Given the description of an element on the screen output the (x, y) to click on. 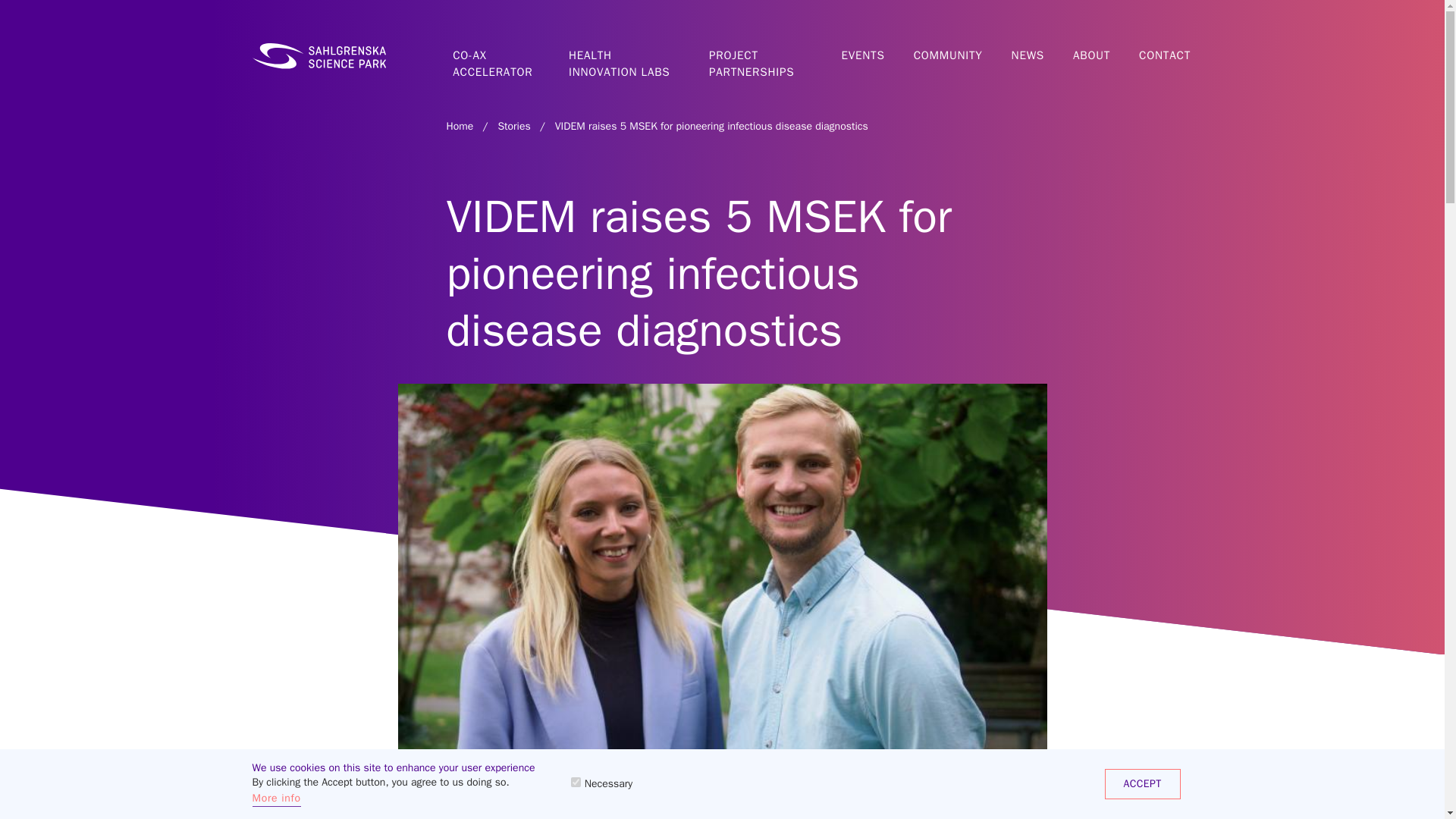
ABOUT (1093, 55)
Home (318, 56)
PROJECT PARTNERSHIPS (763, 55)
Events (864, 55)
Stories (513, 126)
CO-AX ACCELERATOR (499, 55)
essential (575, 782)
COMMUNITY (949, 55)
EVENTS (864, 55)
NEWS (1028, 55)
